Given the description of an element on the screen output the (x, y) to click on. 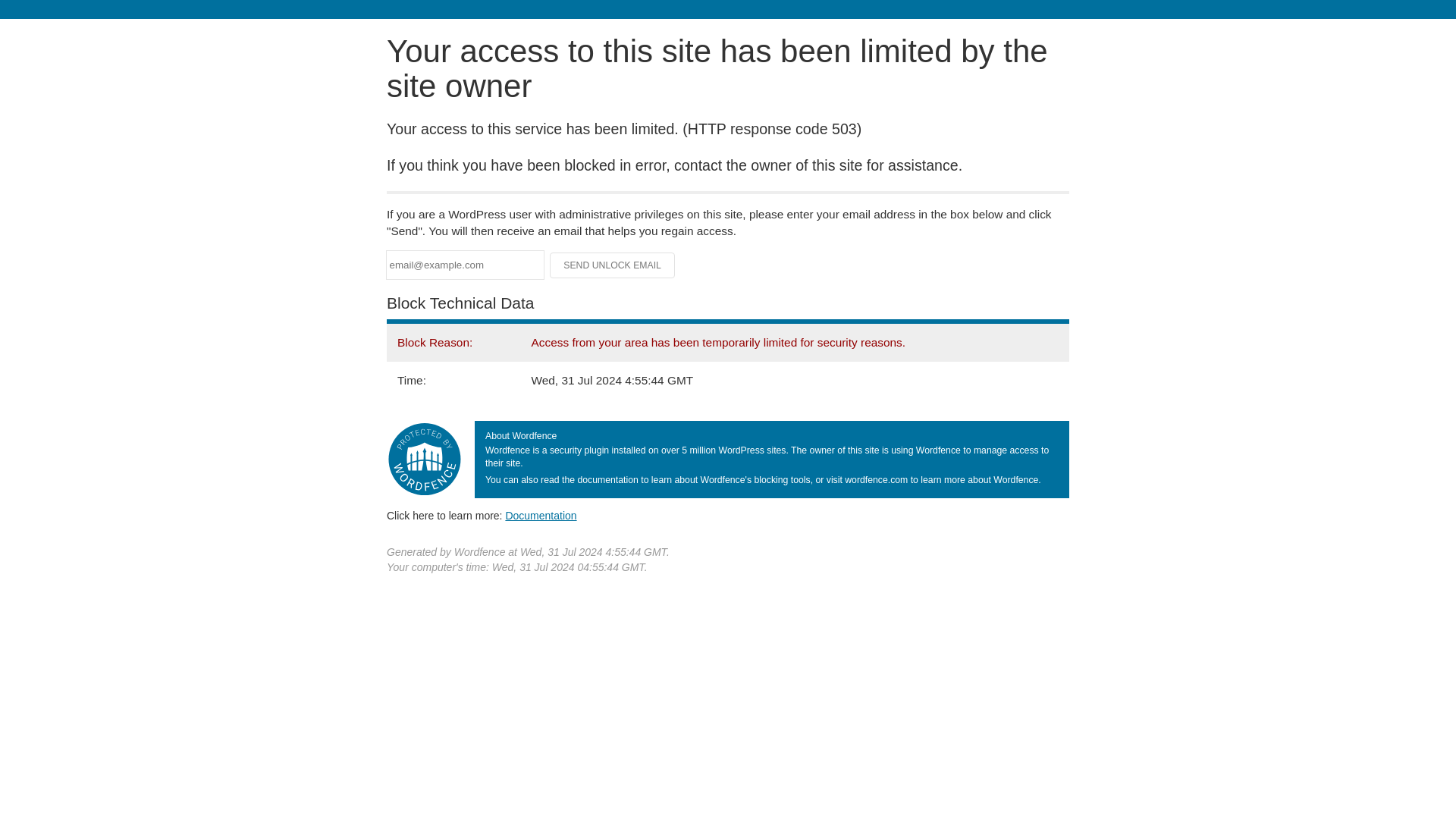
Send Unlock Email (612, 265)
Send Unlock Email (612, 265)
Documentation (540, 515)
